Given the description of an element on the screen output the (x, y) to click on. 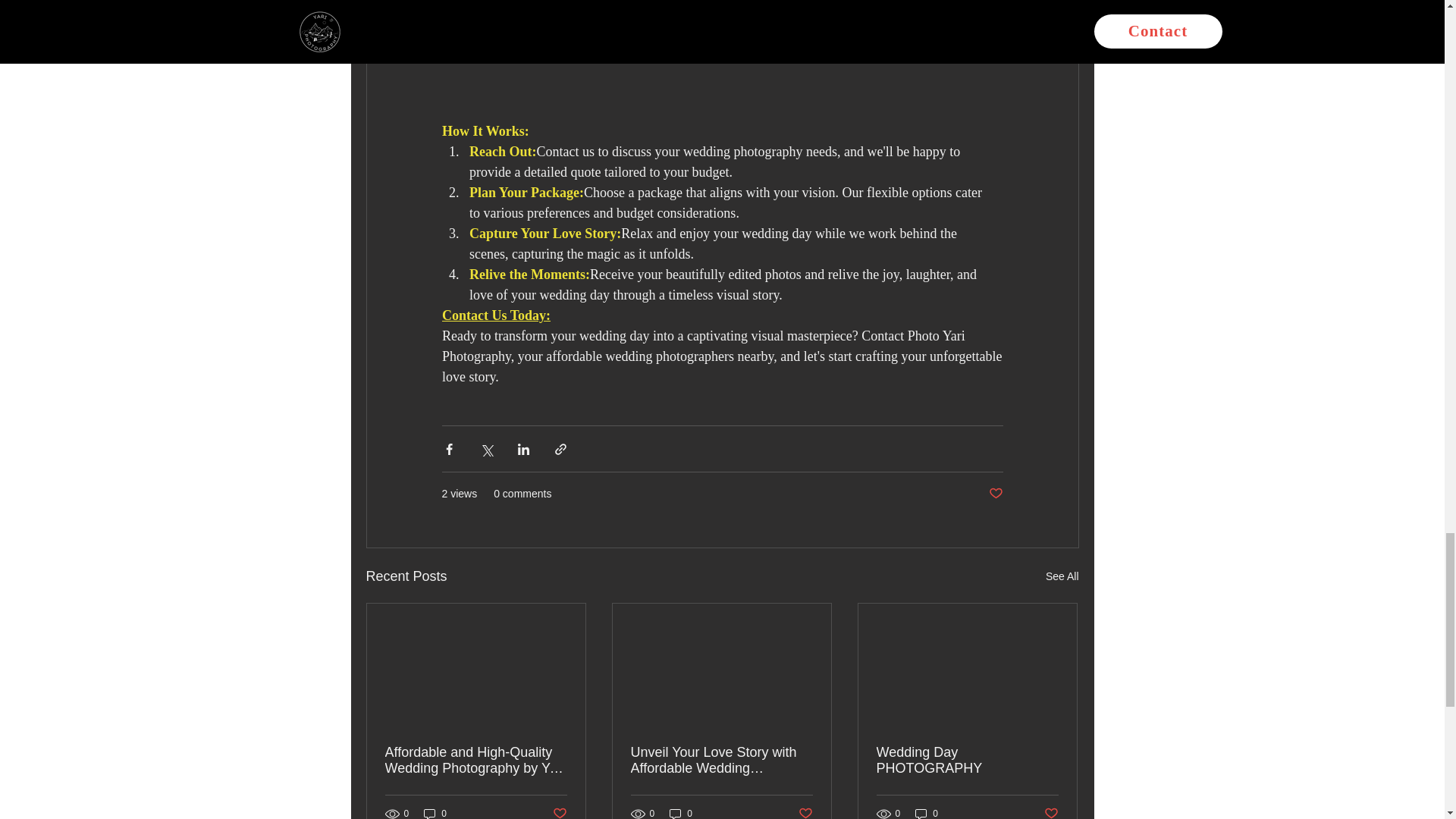
Contact Us Today: (495, 314)
Post not marked as liked (995, 494)
0 (435, 812)
Post not marked as liked (558, 812)
See All (1061, 576)
